Given the description of an element on the screen output the (x, y) to click on. 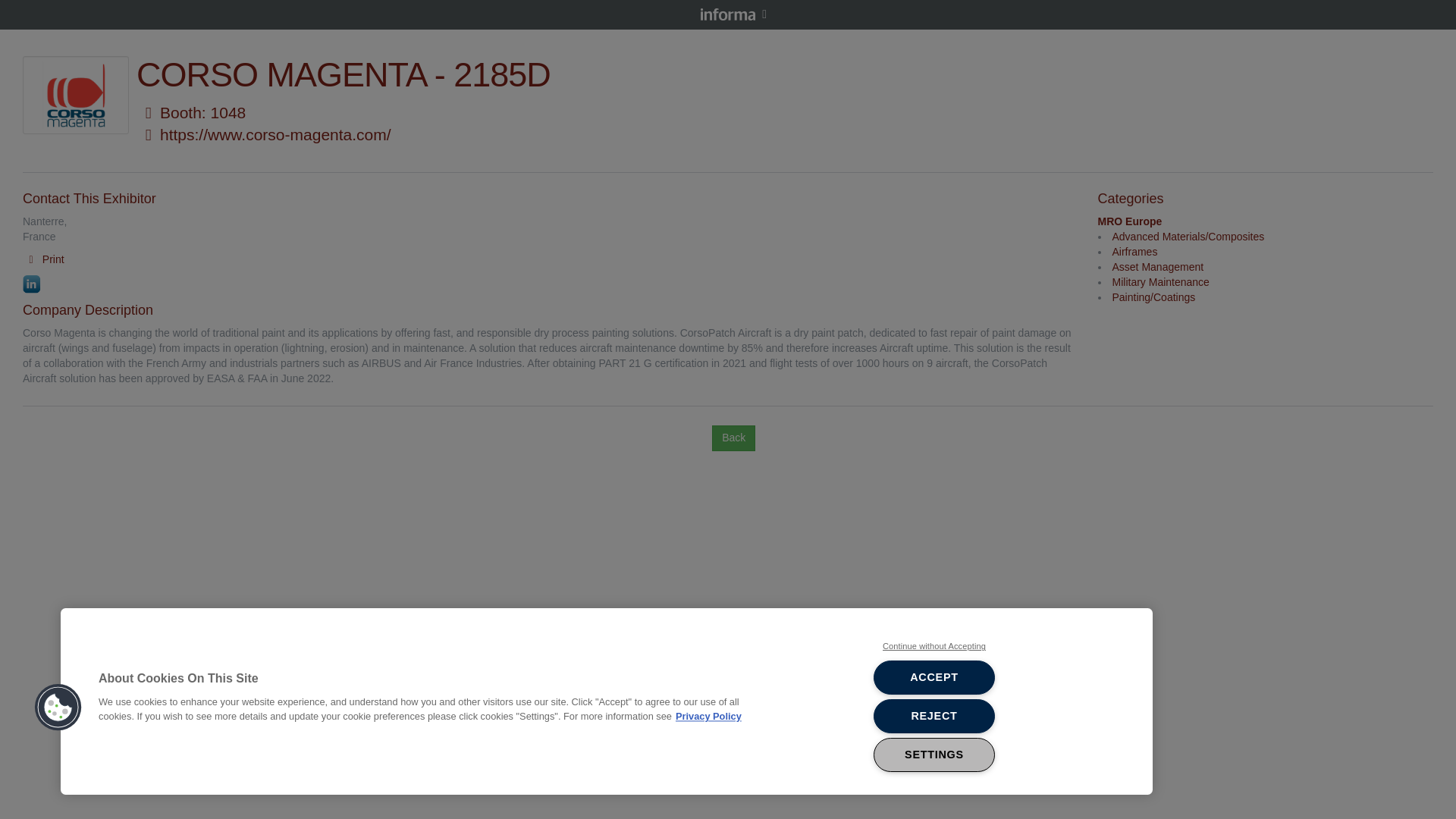
Military Maintenance (1160, 282)
MRO Europe (1129, 221)
Map It (148, 112)
Airframes (1134, 251)
Website (148, 135)
Booth: 1048 (191, 111)
Back (733, 438)
Asset Management (1158, 266)
Print (43, 259)
Print (43, 259)
Back To Exhibitors (733, 438)
